Given the description of an element on the screen output the (x, y) to click on. 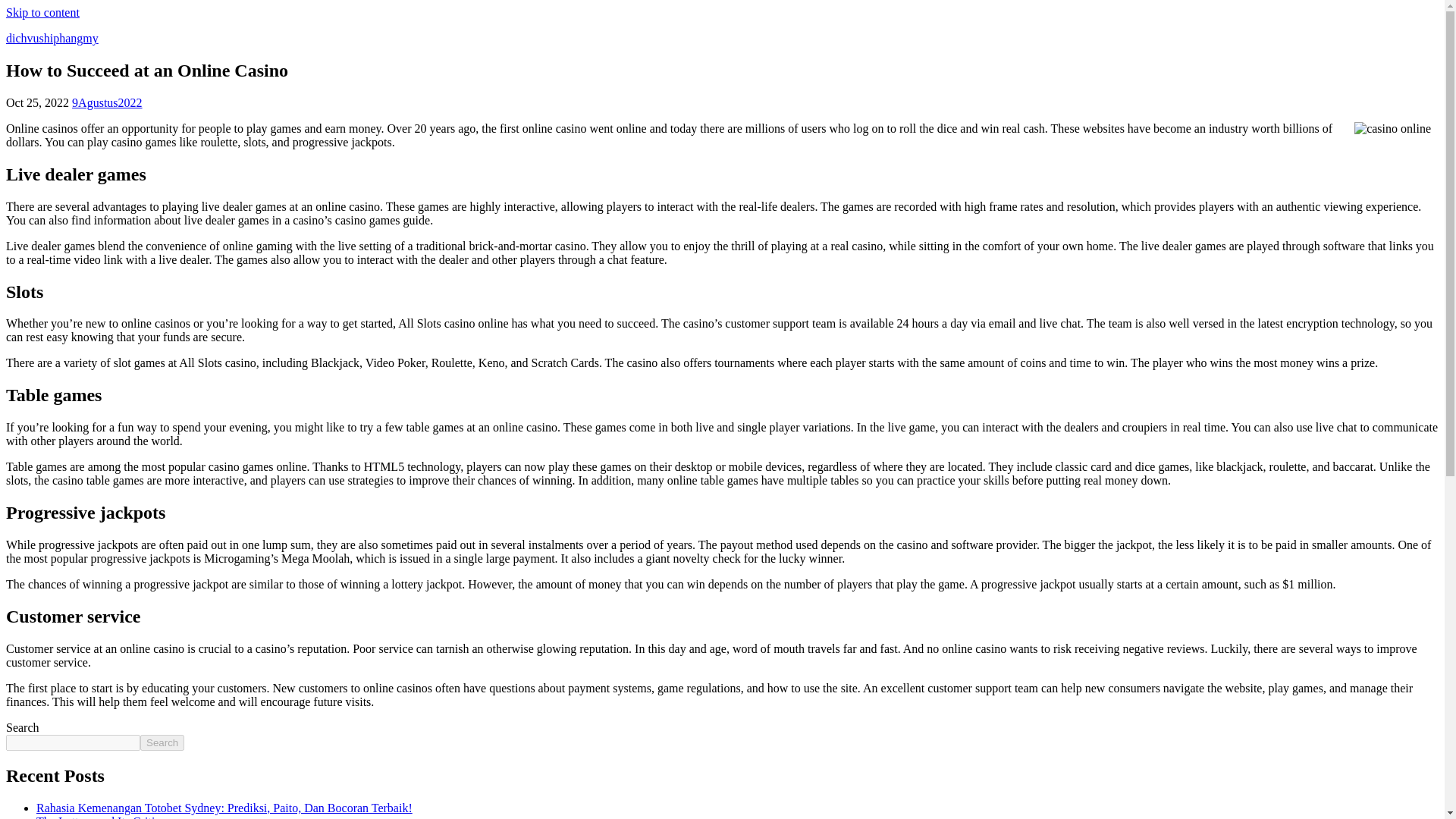
Skip to content (42, 11)
dichvushiphangmy (52, 38)
Search (161, 742)
The Lottery and Its Critics (100, 816)
9Agustus2022 (106, 102)
